Given the description of an element on the screen output the (x, y) to click on. 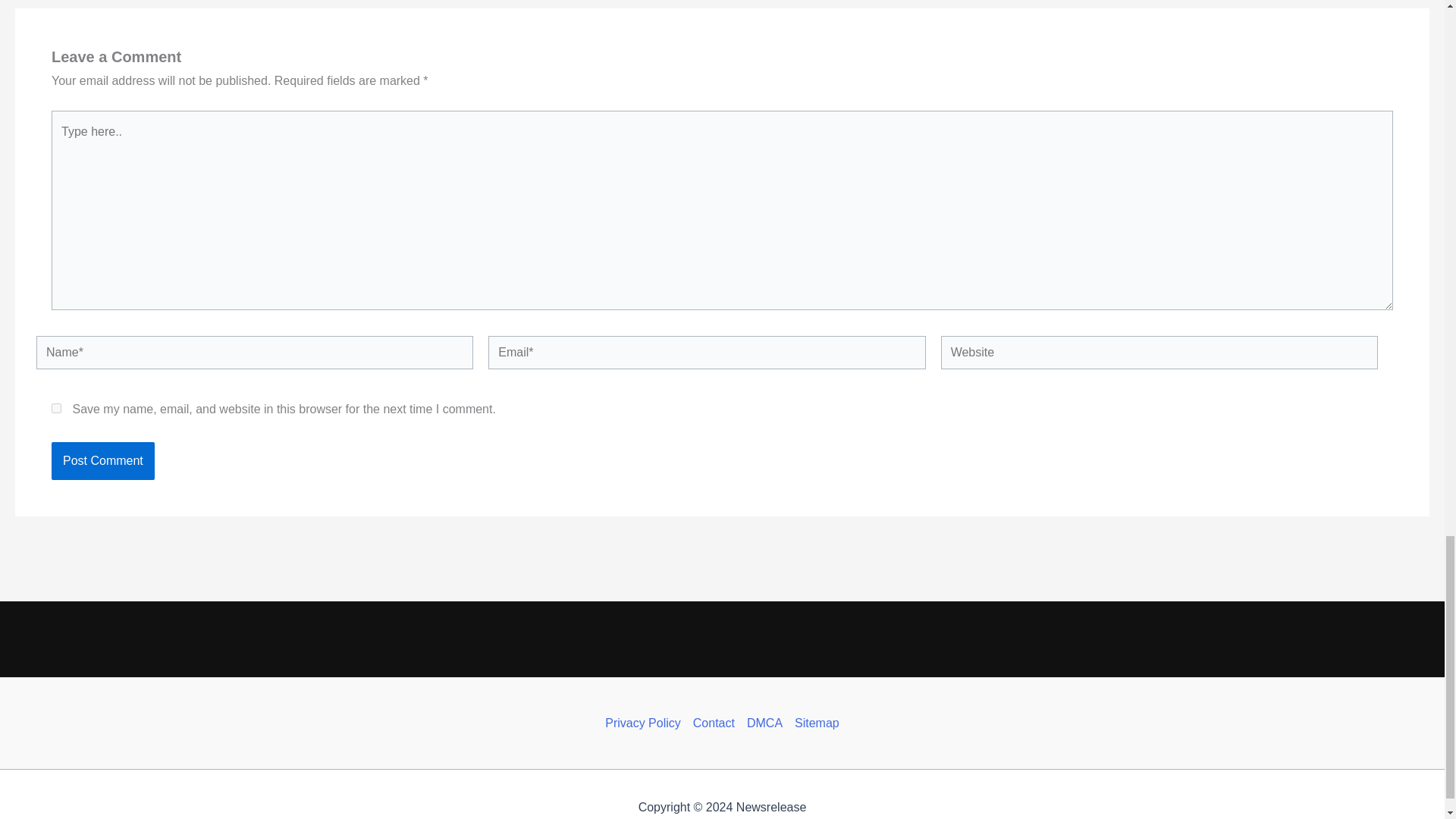
Sitemap (814, 722)
yes (55, 408)
Post Comment (102, 460)
Privacy Policy (646, 722)
DMCA (765, 722)
Post Comment (102, 460)
Contact (714, 722)
